Given the description of an element on the screen output the (x, y) to click on. 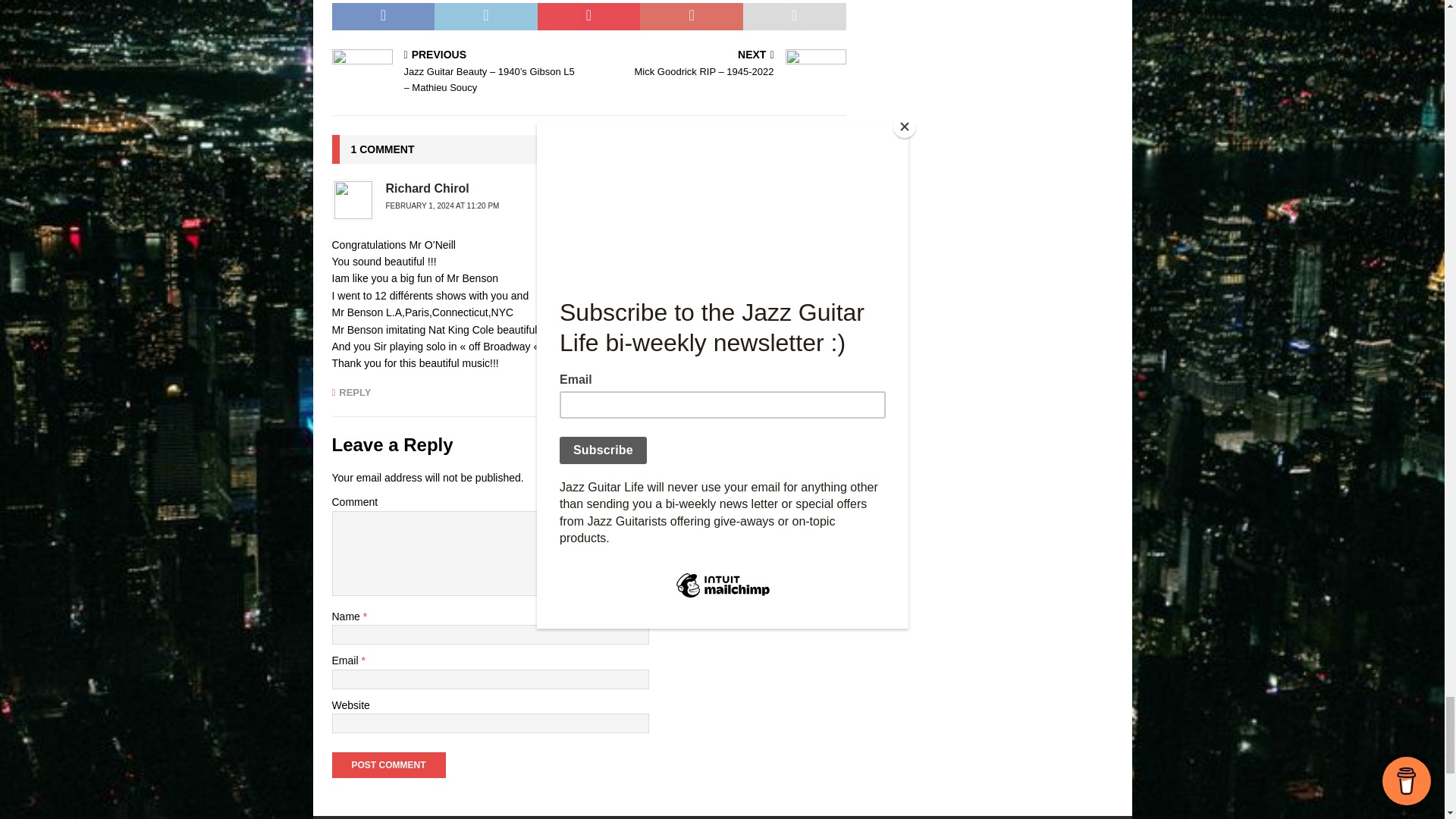
Post Comment (388, 765)
